Given the description of an element on the screen output the (x, y) to click on. 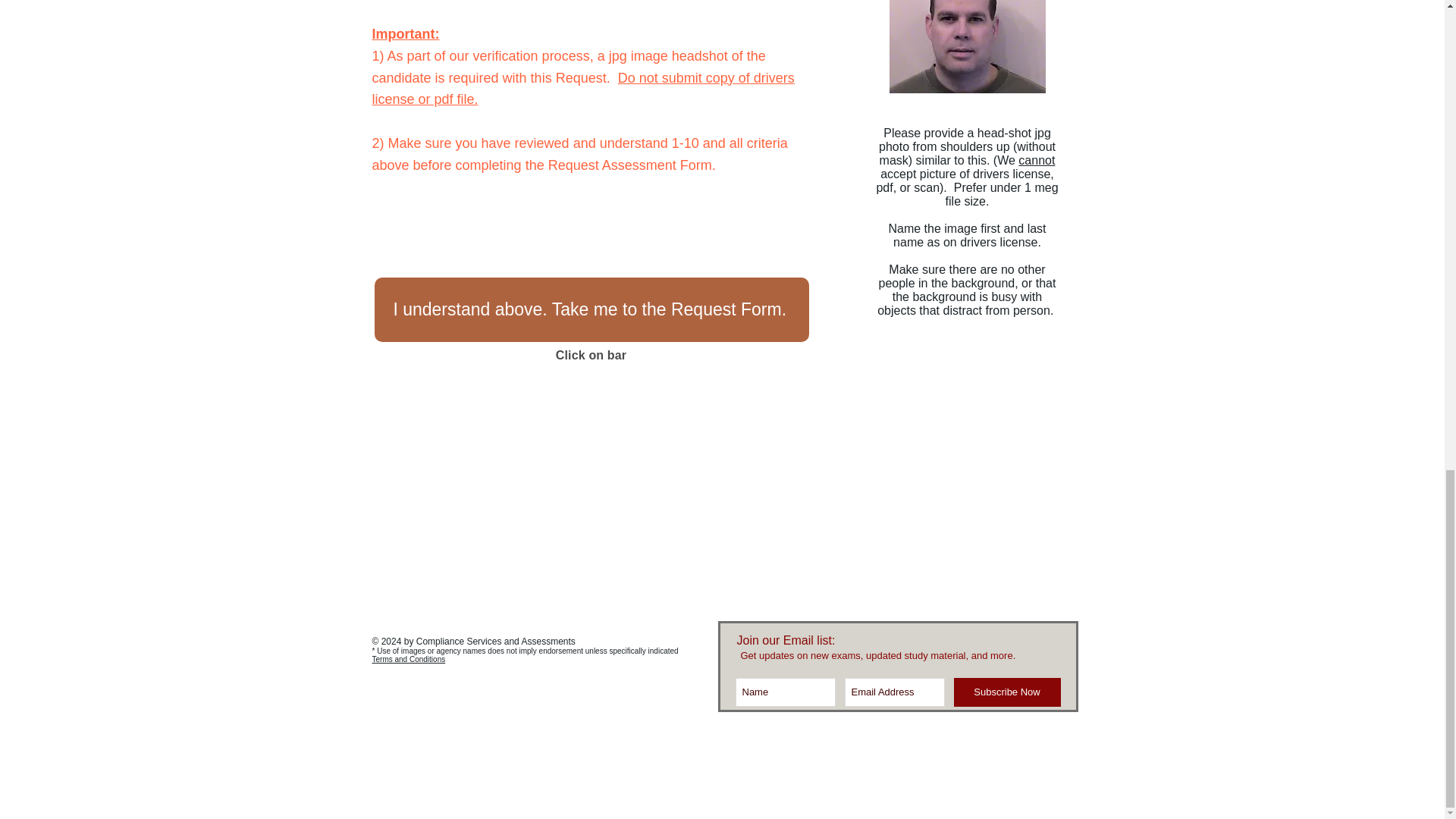
I understand above. Take me to the Request Form. (591, 309)
Terms and Conditions (408, 659)
Subscribe Now (1007, 692)
